Given the description of an element on the screen output the (x, y) to click on. 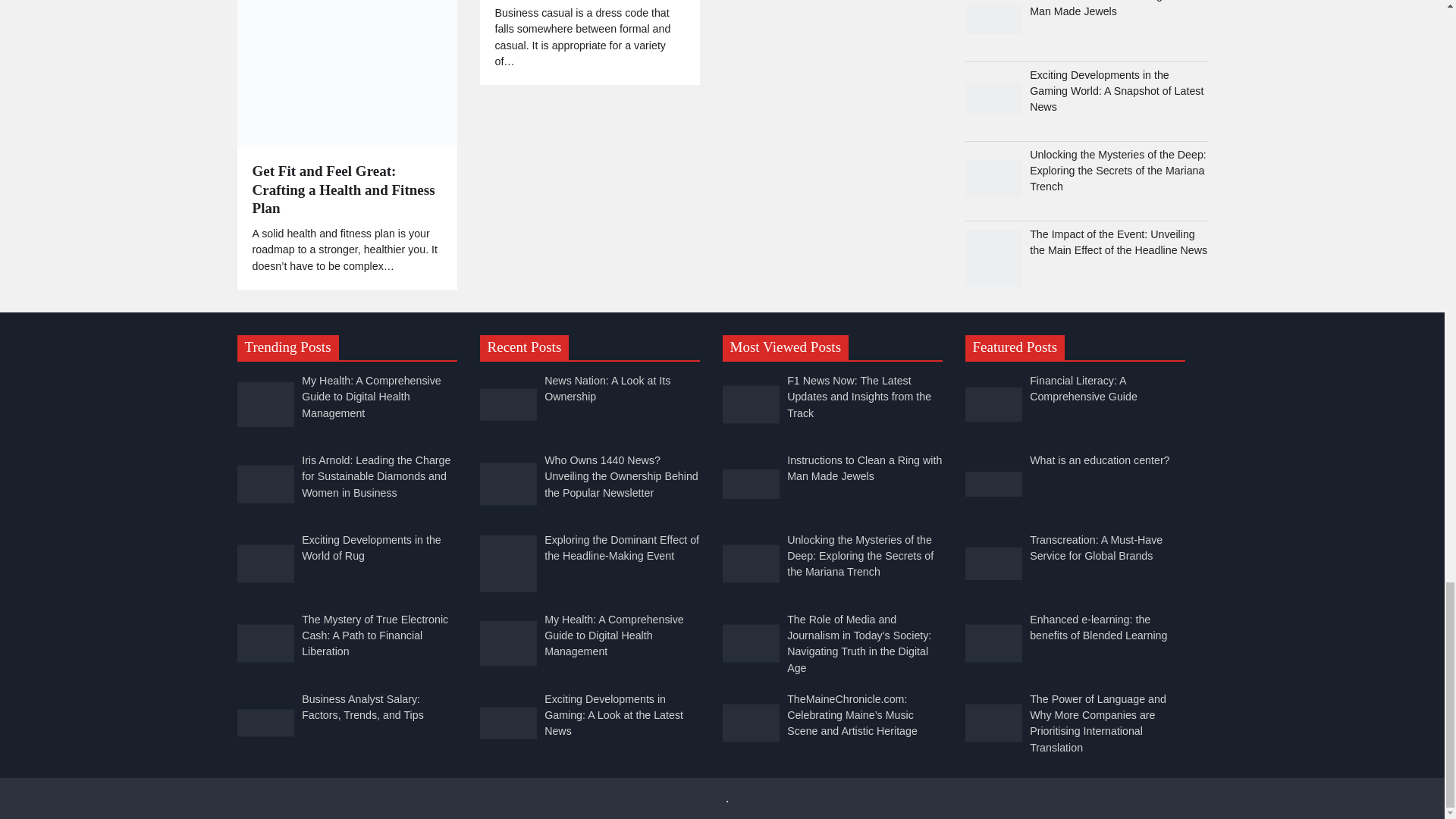
Get Fit and Feel Great: Crafting a Health and Fitness Plan (346, 73)
Exciting Developments in the World of Rugby (264, 563)
